Given the description of an element on the screen output the (x, y) to click on. 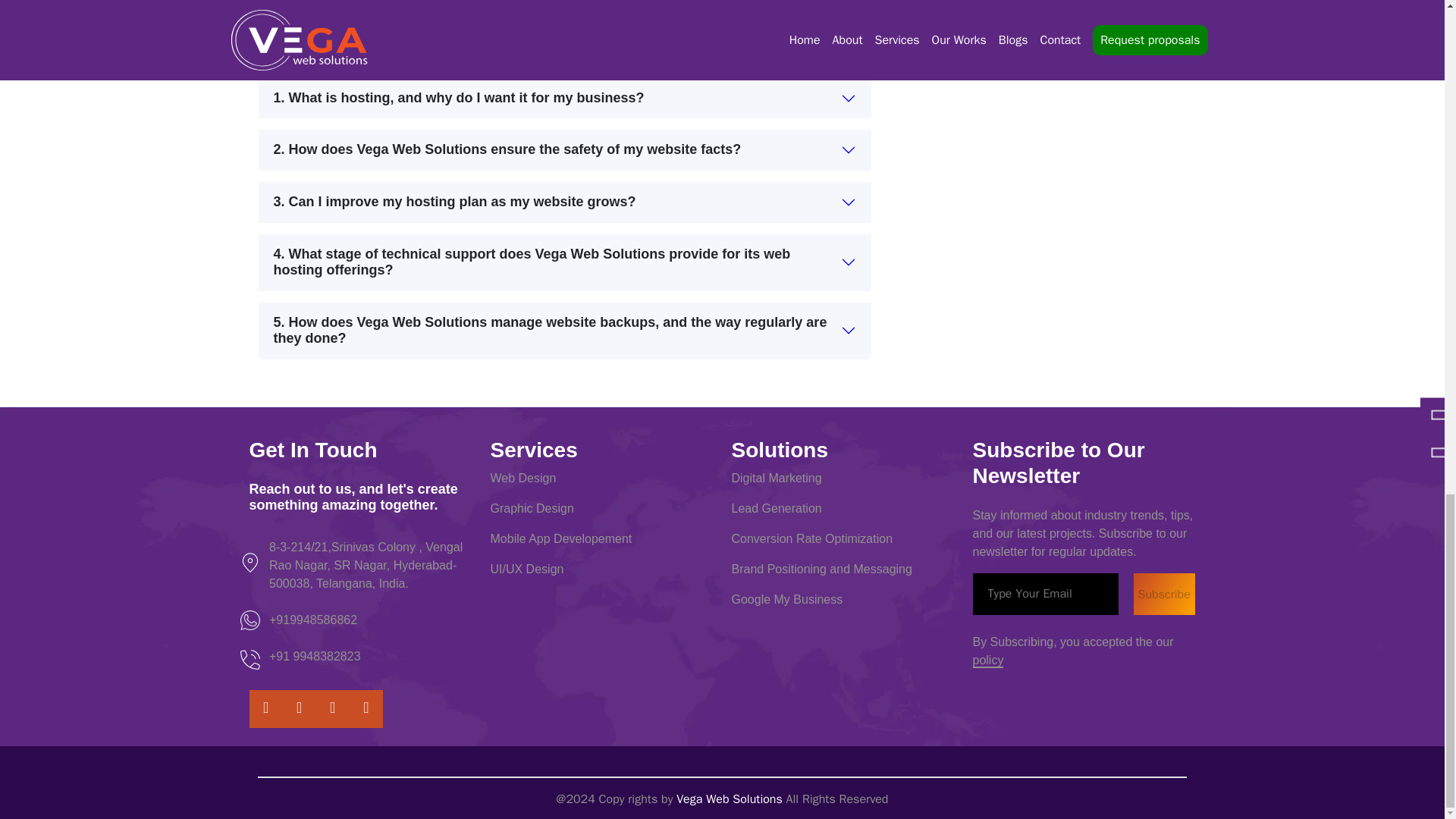
Web Design (522, 477)
3. Can I improve my hosting plan as my website grows? (563, 201)
Graphic Design (531, 508)
1. What is hosting, and why do I want it for my business? (563, 97)
